Given the description of an element on the screen output the (x, y) to click on. 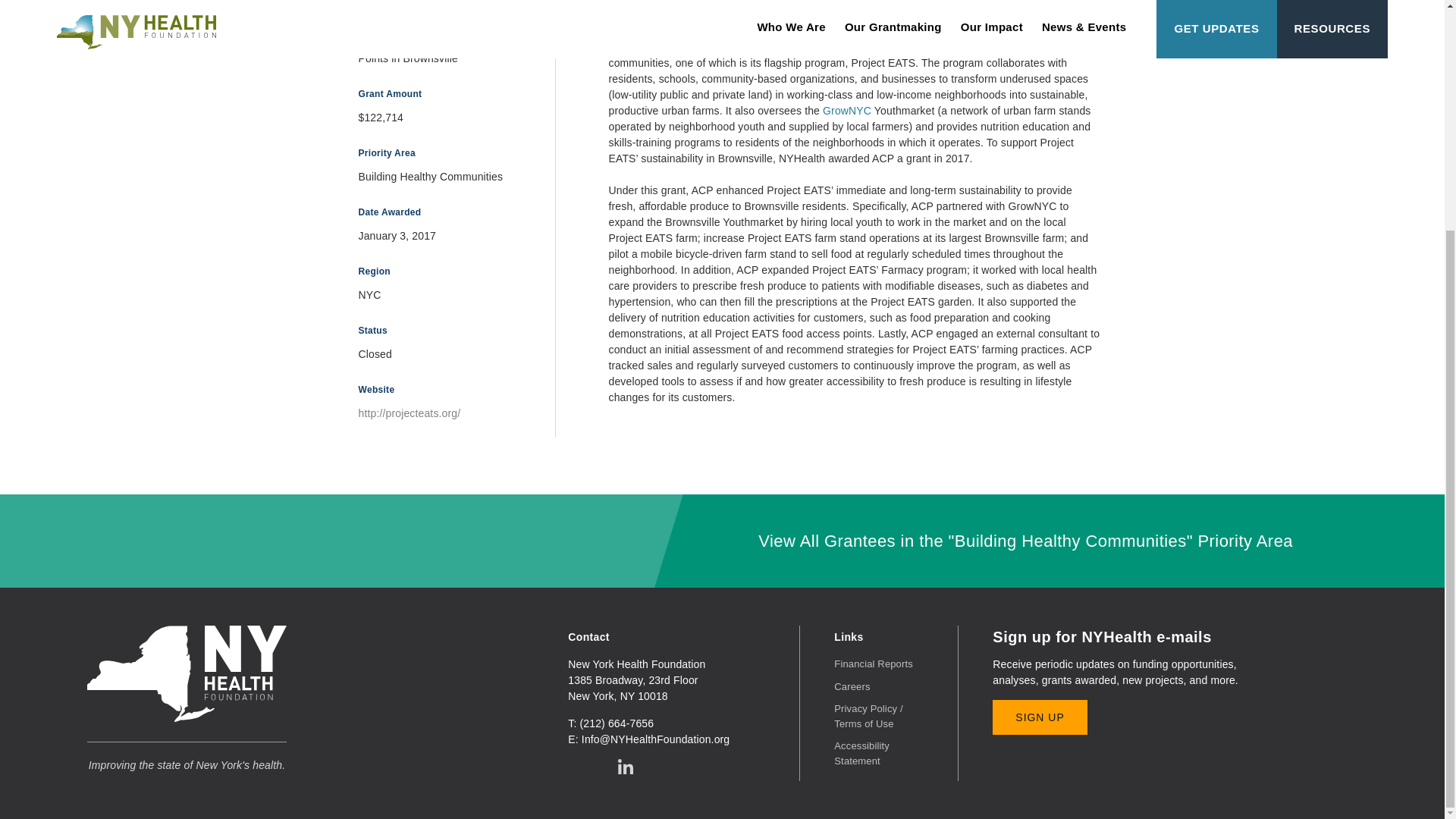
Accessibility Statement (861, 753)
Financial Reports (873, 663)
GrowNYC (846, 110)
SIGN UP (1039, 717)
Careers (851, 686)
